Given the description of an element on the screen output the (x, y) to click on. 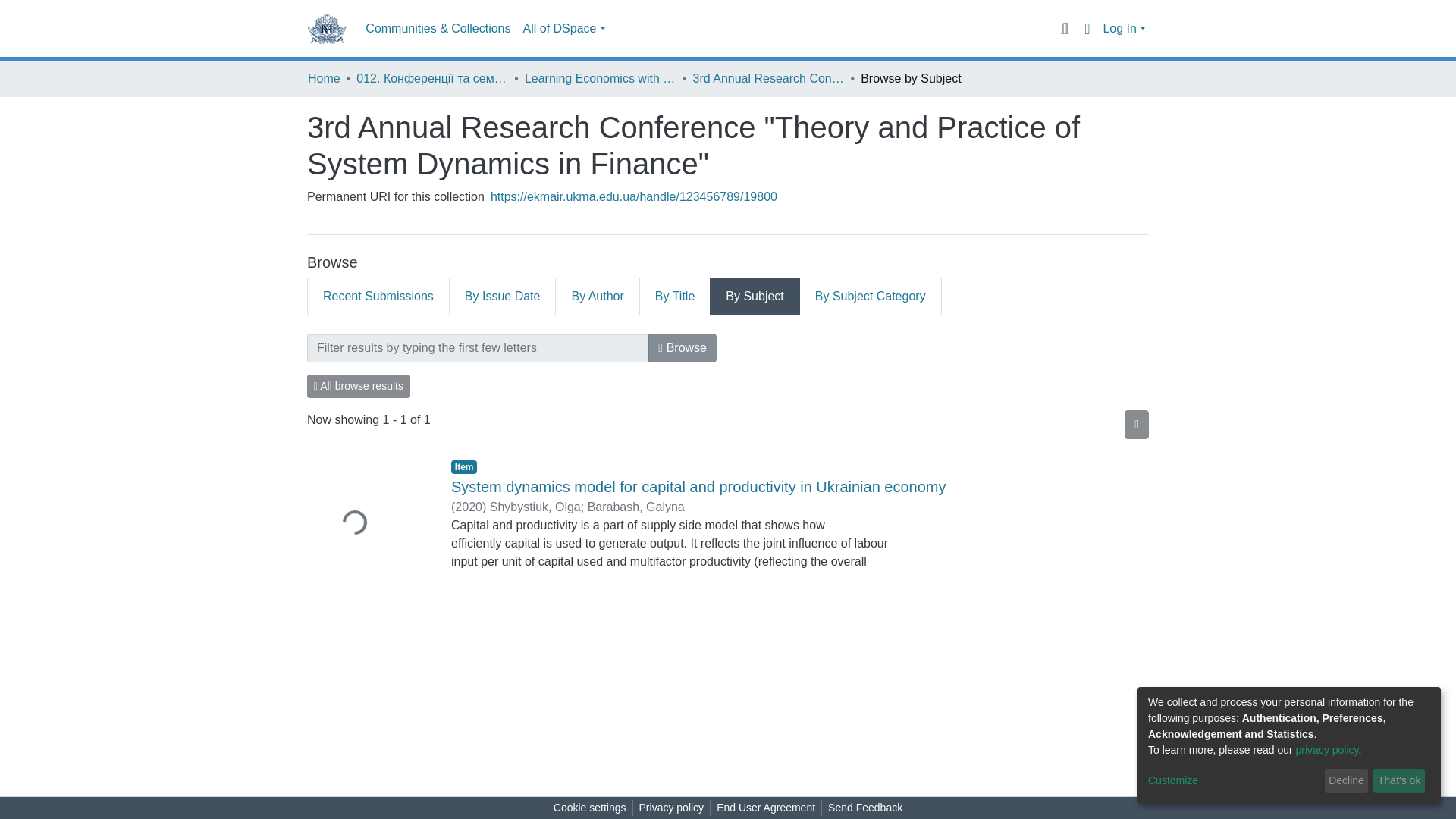
By Subject Category (870, 296)
Learning Economics with Dynamic Modelling (600, 78)
All browse results (358, 386)
Log In (1123, 28)
By Issue Date (502, 296)
Recent Submissions (378, 296)
Home (323, 78)
Search (1064, 28)
By Author (597, 296)
